Given the description of an element on the screen output the (x, y) to click on. 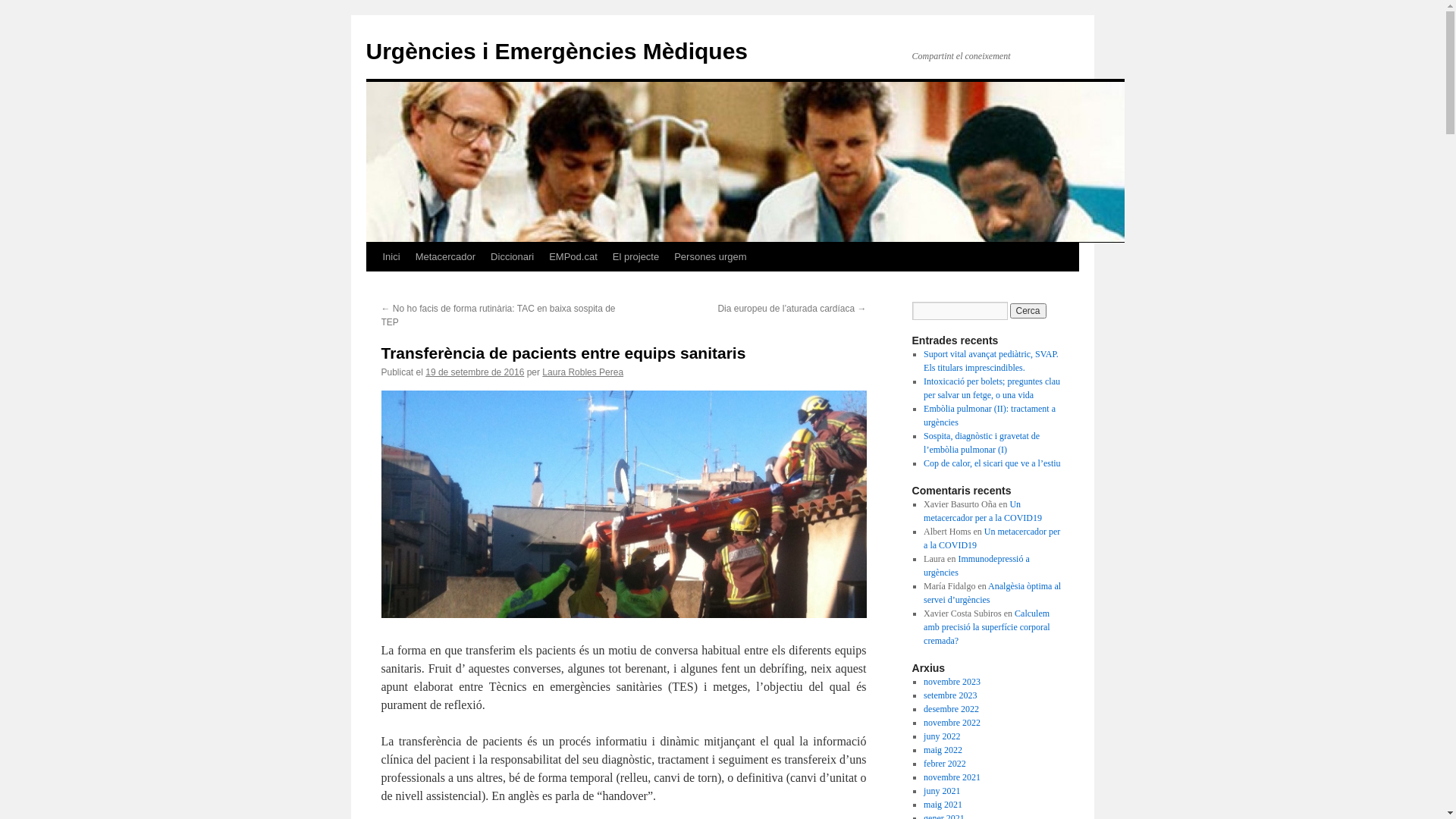
Inici Element type: text (390, 256)
Diccionari Element type: text (512, 256)
novembre 2023 Element type: text (951, 681)
Un metacercador per a la COVID19 Element type: text (991, 538)
19 de setembre de 2016 Element type: text (474, 372)
Persones urgem Element type: text (709, 256)
juny 2021 Element type: text (941, 790)
setembre 2023 Element type: text (949, 695)
febrer 2022 Element type: text (944, 763)
maig 2022 Element type: text (942, 749)
juny 2022 Element type: text (941, 736)
Un metacercador per a la COVID19 Element type: text (982, 510)
EMPod.cat Element type: text (573, 256)
Cerca Element type: text (1028, 310)
novembre 2022 Element type: text (951, 722)
Laura Robles Perea Element type: text (582, 372)
El projecte Element type: text (635, 256)
desembre 2022 Element type: text (951, 708)
novembre 2021 Element type: text (951, 776)
maig 2021 Element type: text (942, 804)
Metacercador Element type: text (445, 256)
